Given the description of an element on the screen output the (x, y) to click on. 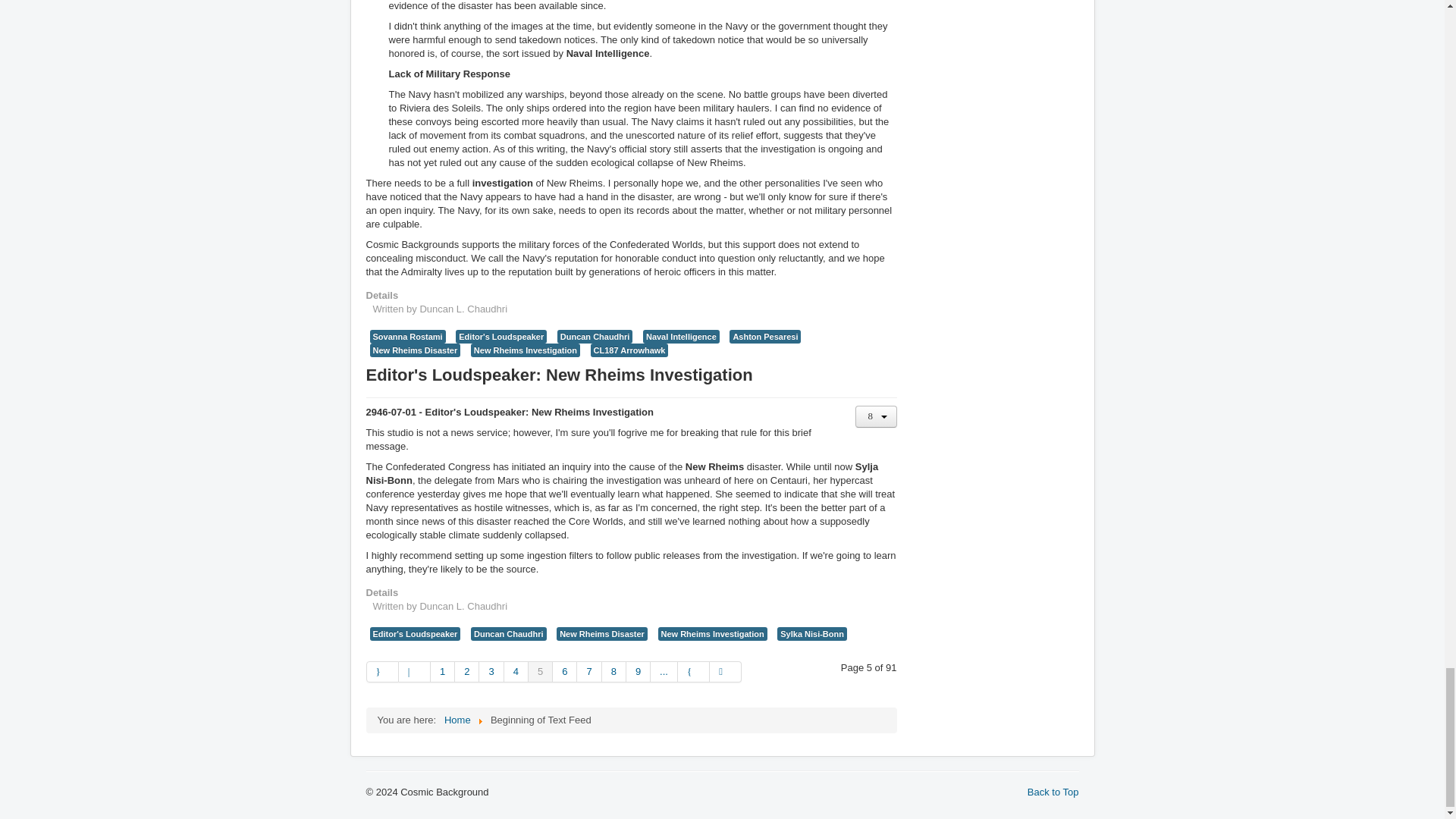
New Rheims Investigation (524, 350)
1 (442, 671)
Naval Intelligence (681, 336)
6 (564, 671)
2 (466, 671)
8 (614, 671)
Editor's Loudspeaker (501, 336)
Prev (414, 671)
Duncan Chaudhri (508, 633)
Ashton Pesaresi (764, 336)
